Given the description of an element on the screen output the (x, y) to click on. 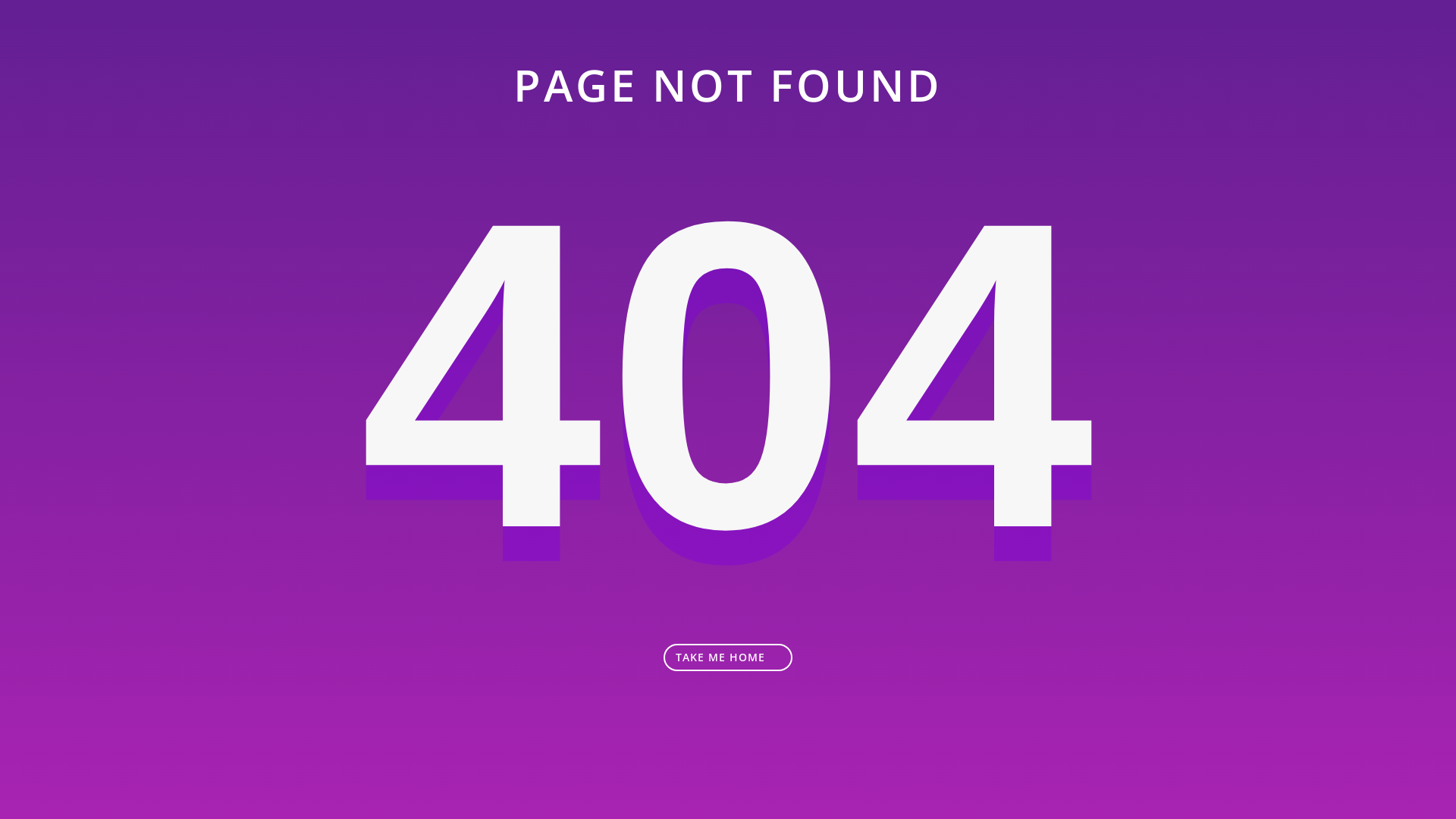
TAKE ME HOME Element type: text (727, 657)
